Given the description of an element on the screen output the (x, y) to click on. 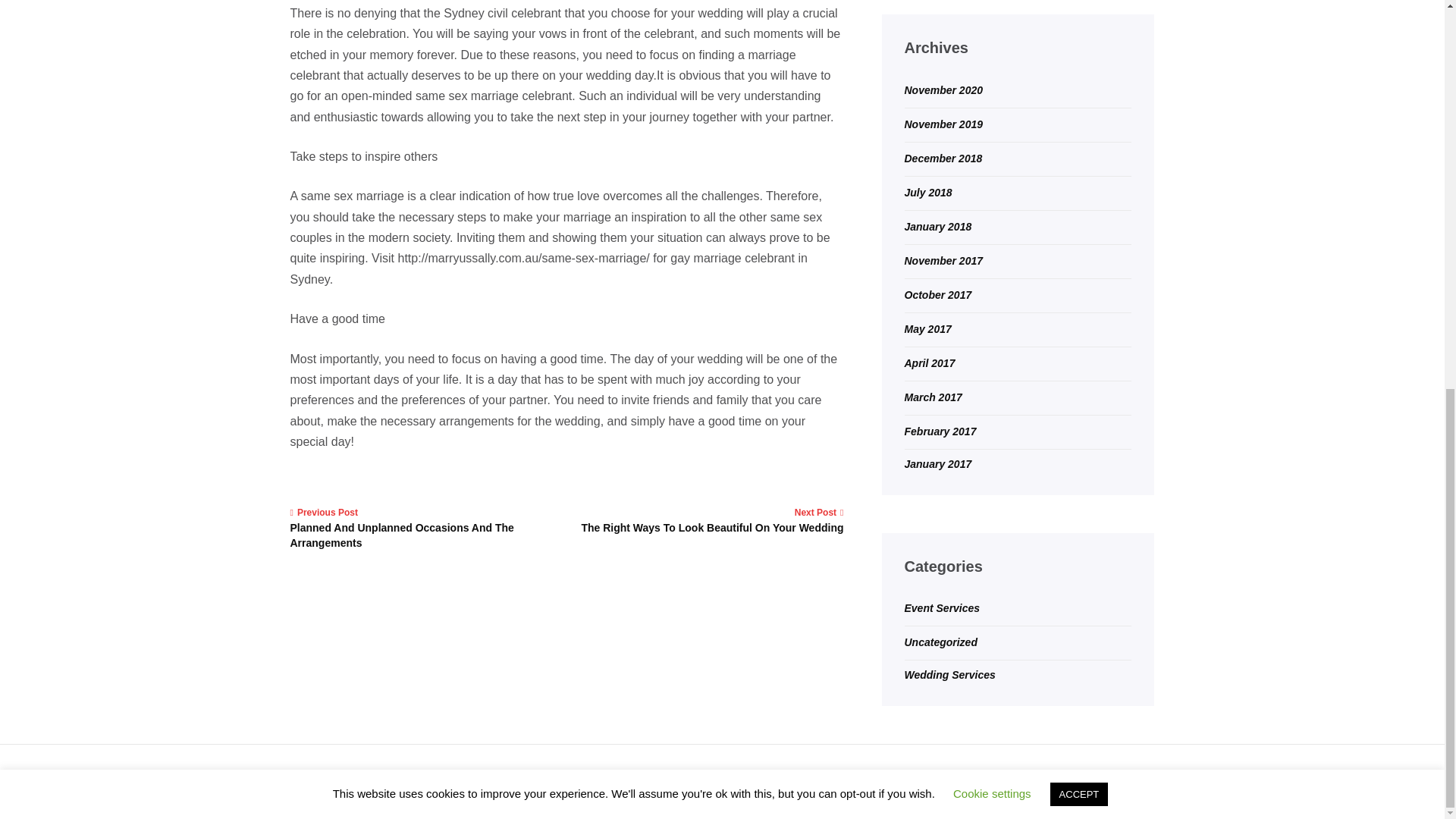
May 2017 (927, 328)
Cookie settings (991, 55)
April 2017 (929, 363)
November 2020 (943, 90)
November 2019 (943, 123)
Event Services (941, 607)
January 2017 (937, 463)
December 2018 (942, 158)
ACCEPT (1078, 56)
October 2017 (937, 295)
March 2017 (932, 397)
Uncategorized (940, 642)
November 2017 (943, 260)
